Given the description of an element on the screen output the (x, y) to click on. 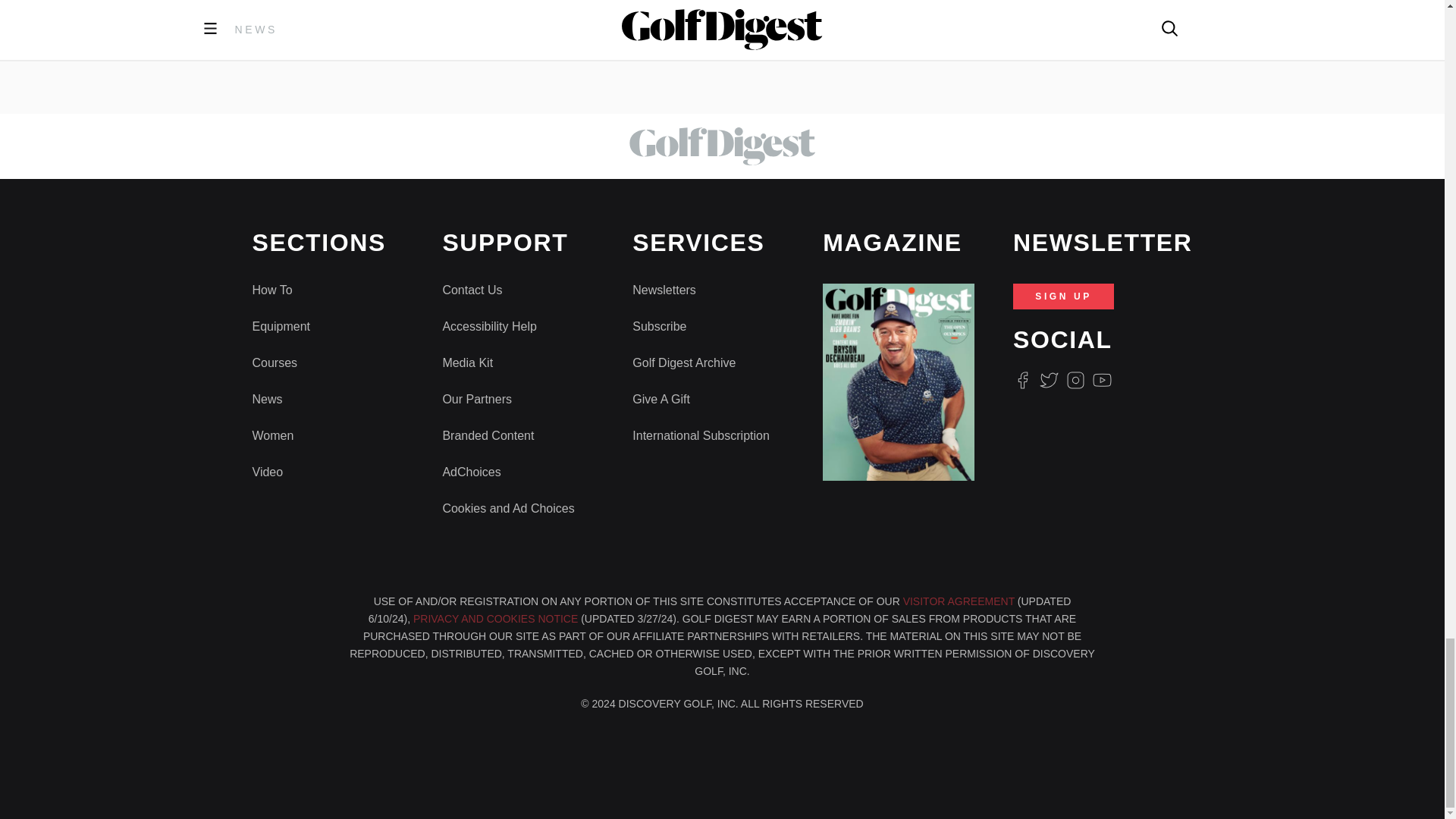
Instagram Logo (1074, 380)
Facebook Logo (1022, 380)
Twitter Logo (1048, 380)
Youtube Icon (1102, 380)
